Given the description of an element on the screen output the (x, y) to click on. 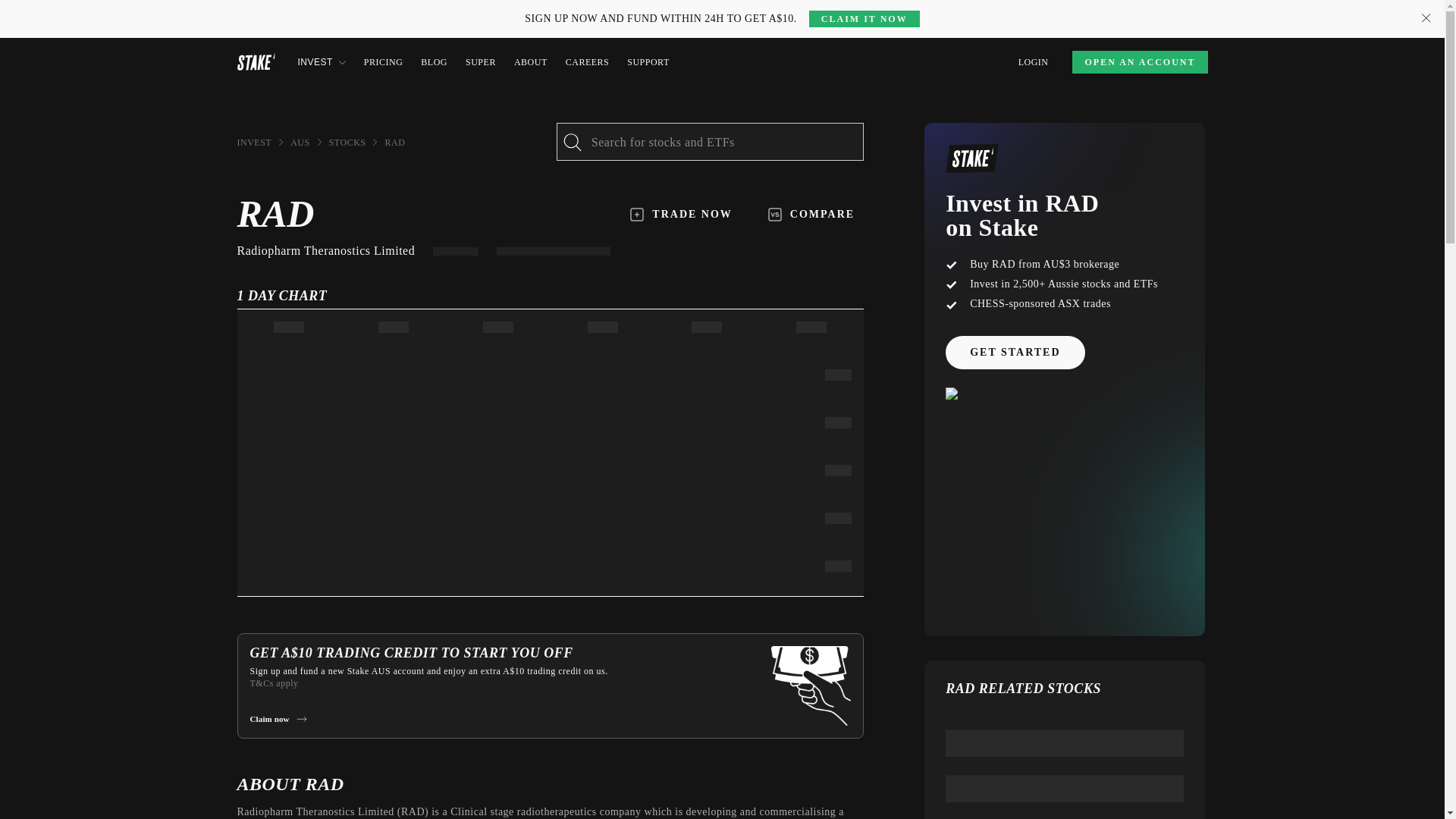
AUS (299, 142)
INVEST (252, 142)
PRICING (383, 61)
CAREERS (588, 61)
STOCKS (347, 142)
INVEST (321, 61)
GET STARTED (1014, 352)
Learn more (341, 9)
SUPER (480, 61)
TRADE NOW (681, 213)
BLOG (433, 61)
COMPARE (811, 213)
CLAIM IT NOW (864, 18)
LOGIN (1032, 61)
OPEN AN ACCOUNT (1139, 61)
